Given the description of an element on the screen output the (x, y) to click on. 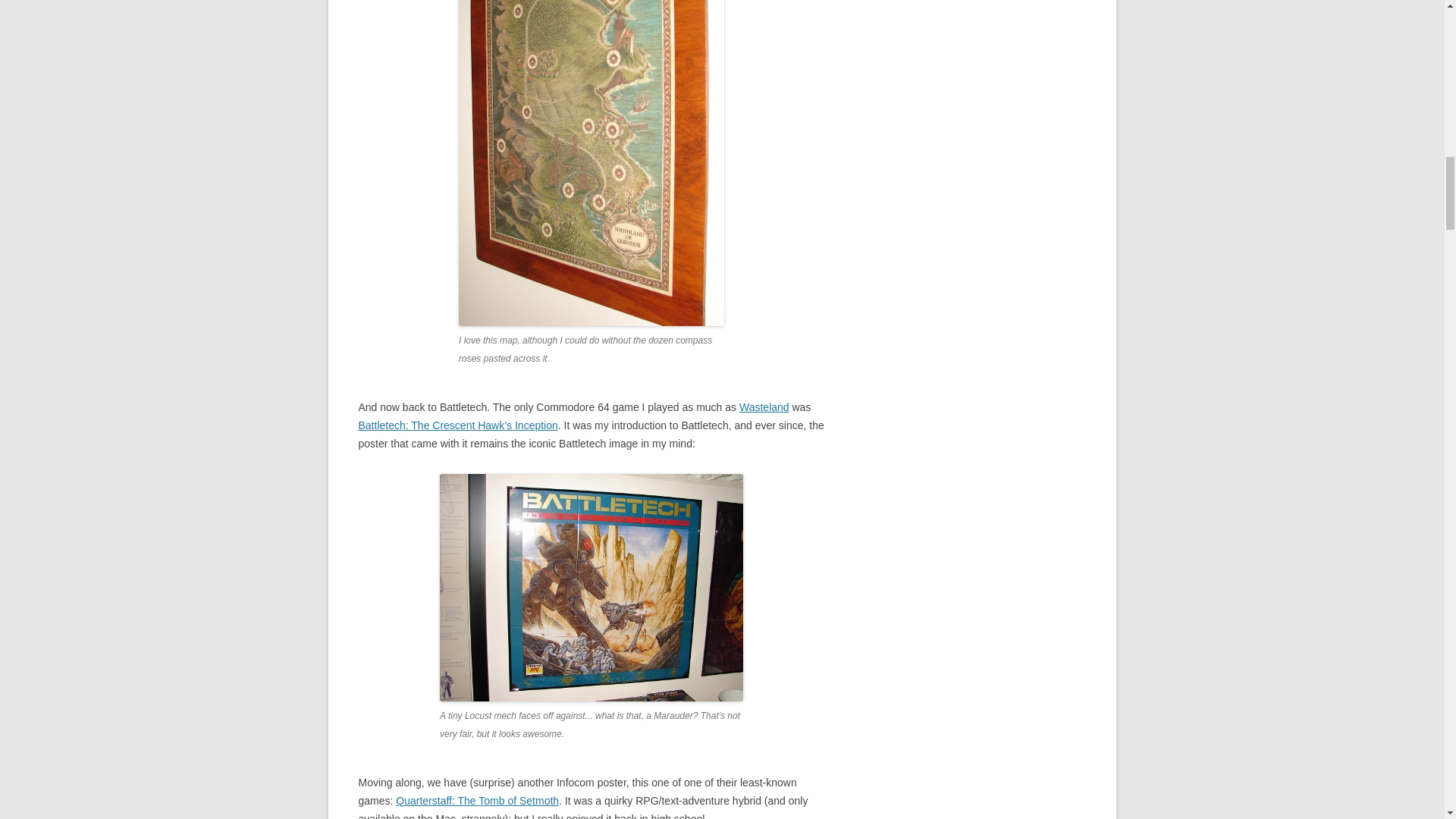
Wasteland (764, 407)
crescenthawk (590, 587)
Quarterstaff: The Tomb of Setmoth (477, 800)
